Given the description of an element on the screen output the (x, y) to click on. 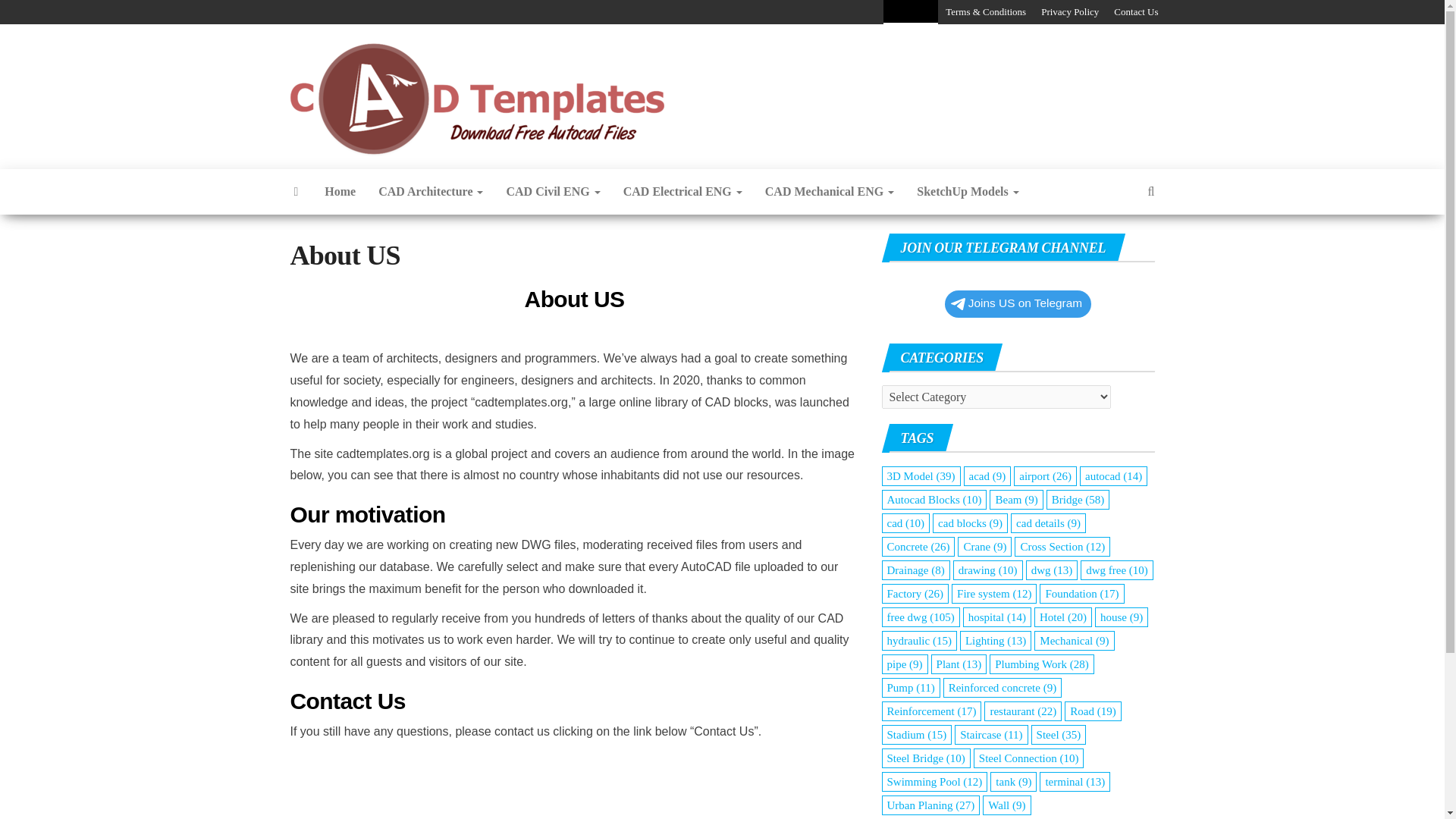
Privacy Policy (1069, 12)
CAD Templates (712, 79)
Privacy Policy (1069, 12)
Contact Us (1136, 12)
Home (339, 191)
CAD Mechanical ENG (829, 191)
Home (339, 191)
About US (910, 12)
CAD Architecture (430, 191)
CAD Civil ENG (553, 191)
